Given the description of an element on the screen output the (x, y) to click on. 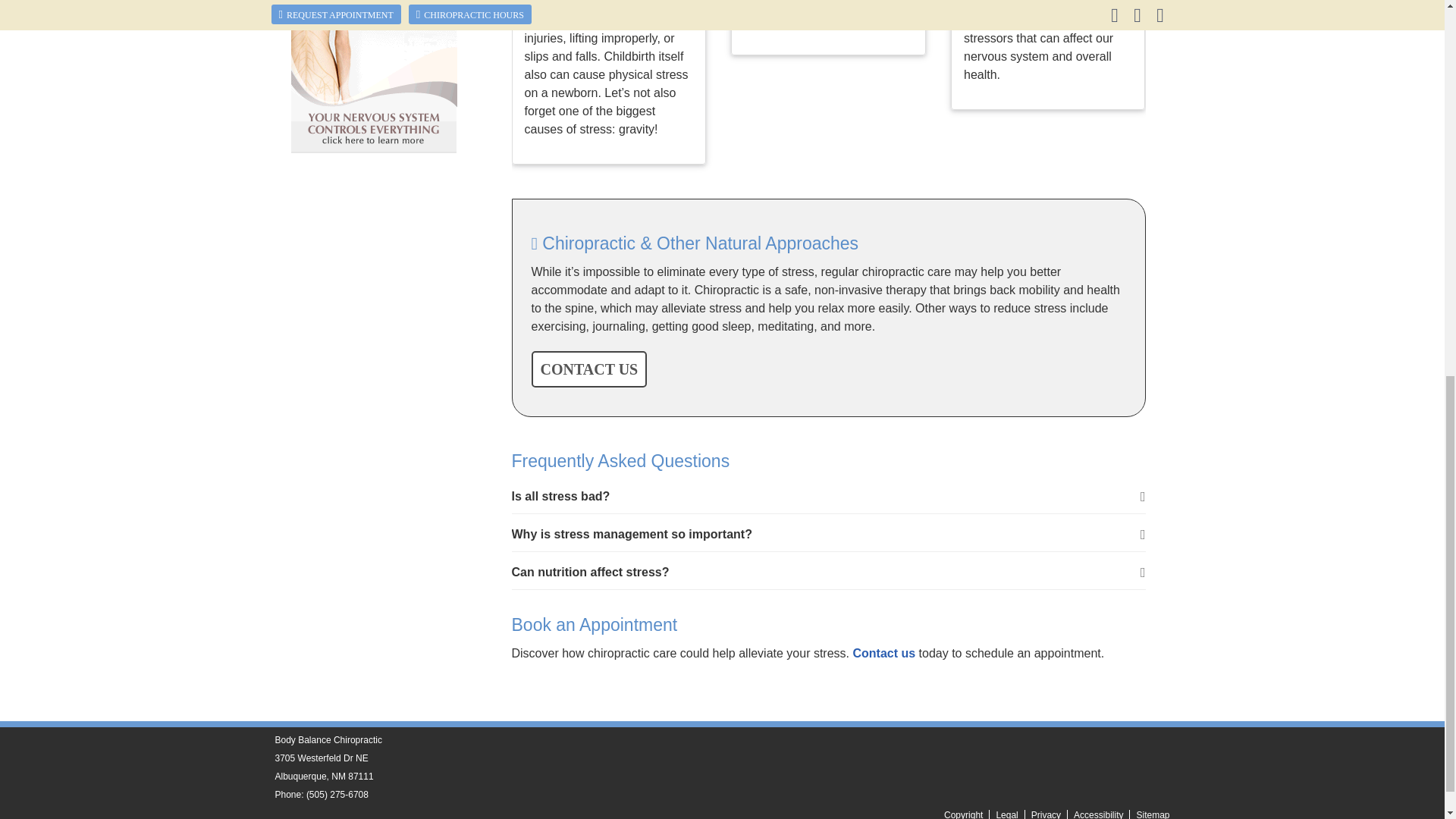
Can nutrition affect stress? (827, 572)
Why is stress management so important? (827, 534)
Can nutrition affect stress? (827, 572)
Is all stress bad? (827, 496)
CONTACT US (588, 369)
Is all stress bad? (827, 496)
Contact us (883, 653)
Why is stress management so important? (827, 534)
